Given the description of an element on the screen output the (x, y) to click on. 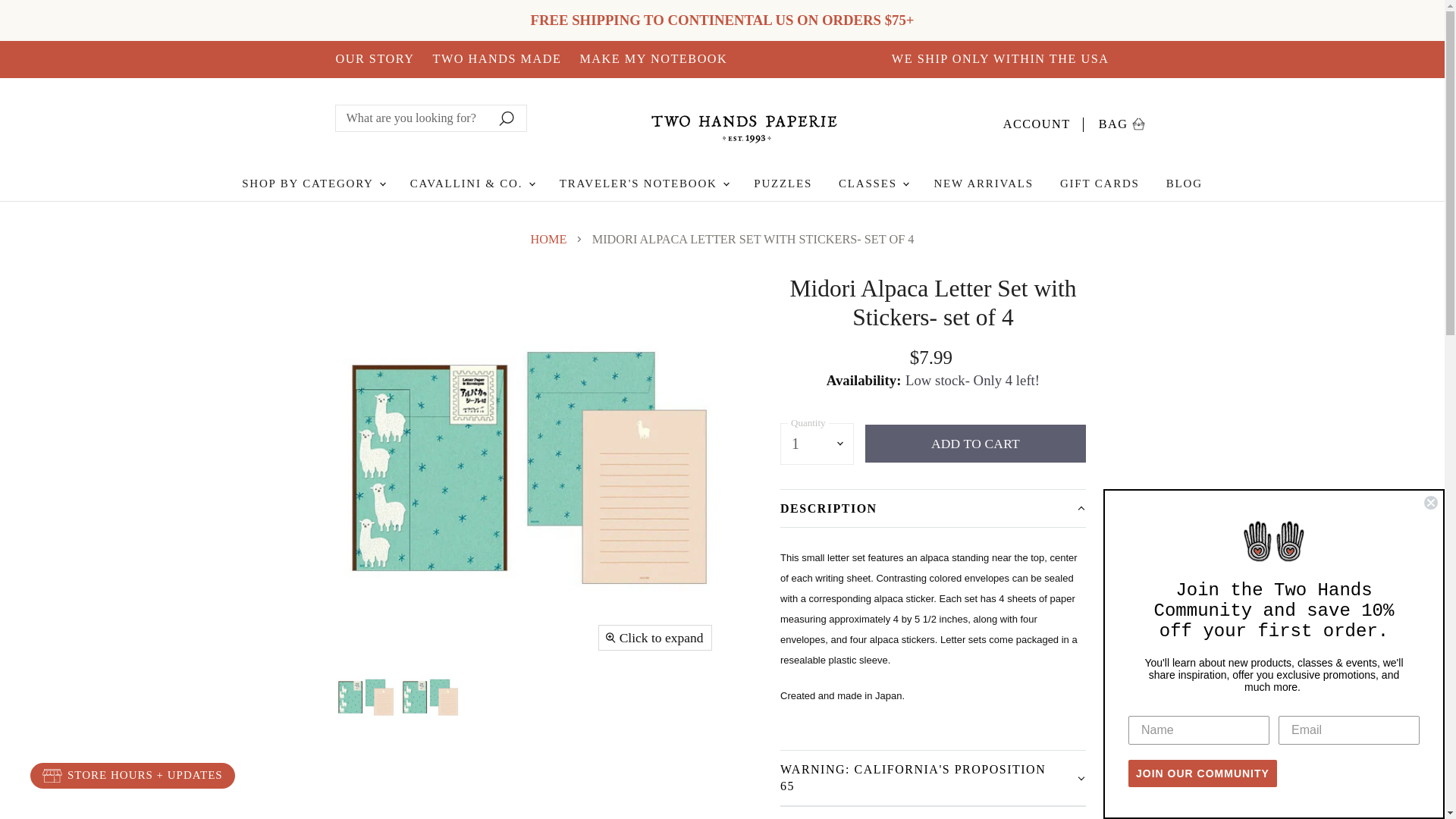
TWO HANDS MADE (496, 59)
SHOP BY CATEGORY (1121, 121)
WE SHIP ONLY WITHIN THE USA (1042, 121)
Close dialog 1 (312, 183)
MAKE MY NOTEBOOK (1000, 59)
OUR STORY (1430, 502)
